Given the description of an element on the screen output the (x, y) to click on. 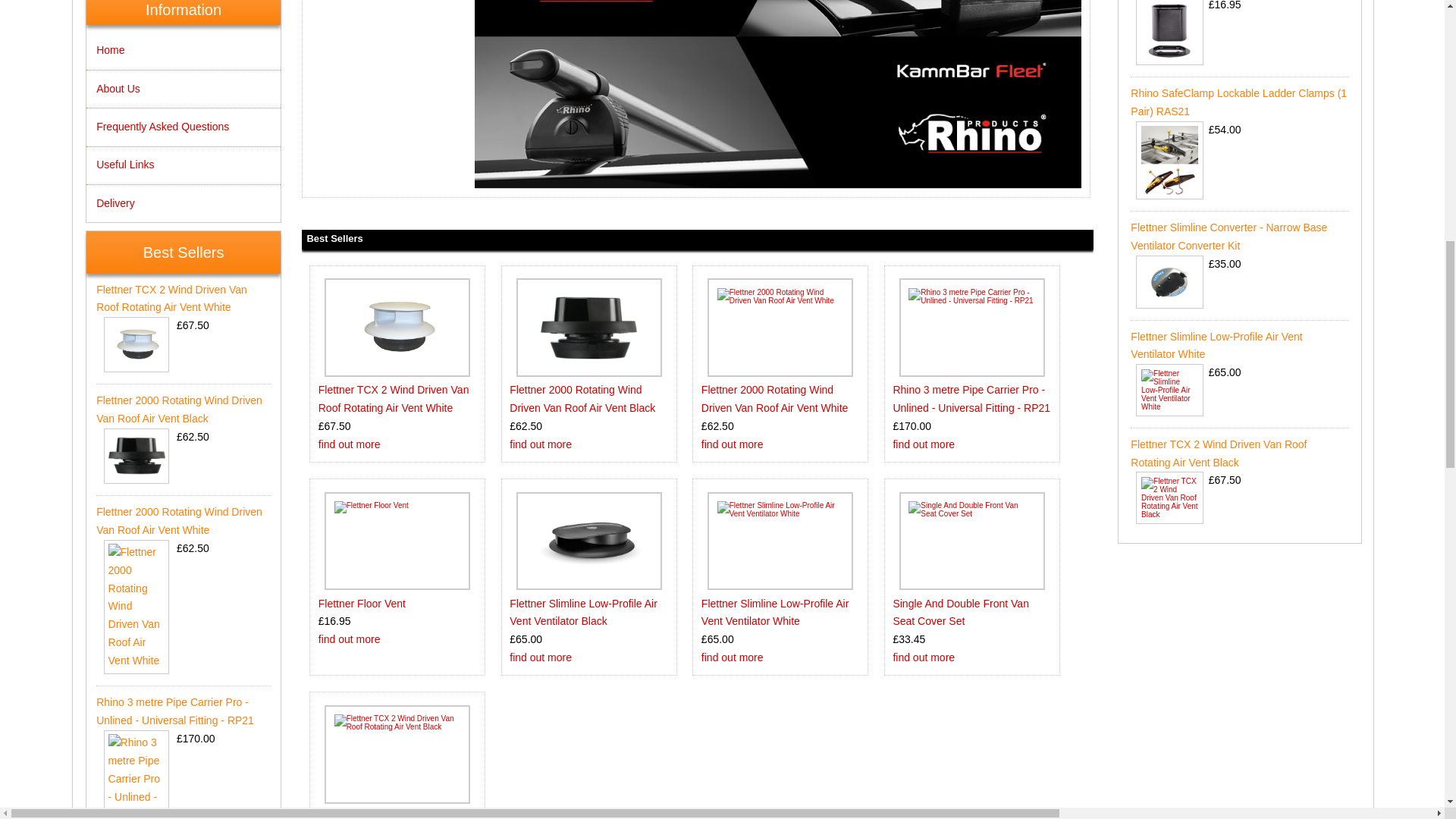
Flettner Floor Vent (362, 603)
Single And Double Front Van Seat Cover Set (971, 540)
Flettner 2000 Rotating Wind Driven Van Roof Air Vent White (774, 399)
find out more (540, 444)
Flettner 2000 Rotating Wind Driven Van Roof Air Vent Black (582, 399)
find out more (349, 639)
Flettner TCX 2 Wind Driven Van Roof Rotating Air Vent White (393, 399)
Flettner 2000 Rotating Wind Driven Van Roof Air Vent Black (588, 327)
